Given the description of an element on the screen output the (x, y) to click on. 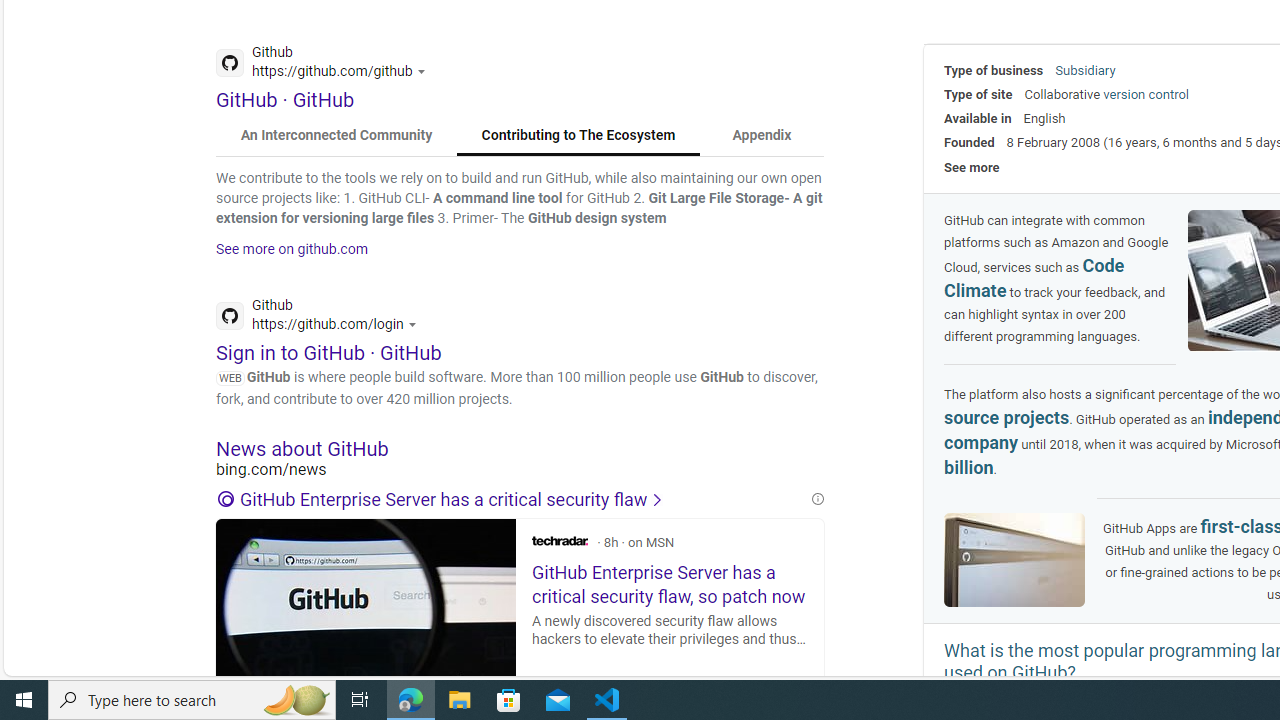
Image of GitHub (1014, 559)
version control (1146, 94)
Appendix (761, 135)
Type of business (994, 70)
Subsidiary (1085, 70)
Available in (978, 117)
GitHub Enterprise Server has a critical security flaw (511, 499)
Type of site (978, 94)
News about GitHub (520, 448)
